Given the description of an element on the screen output the (x, y) to click on. 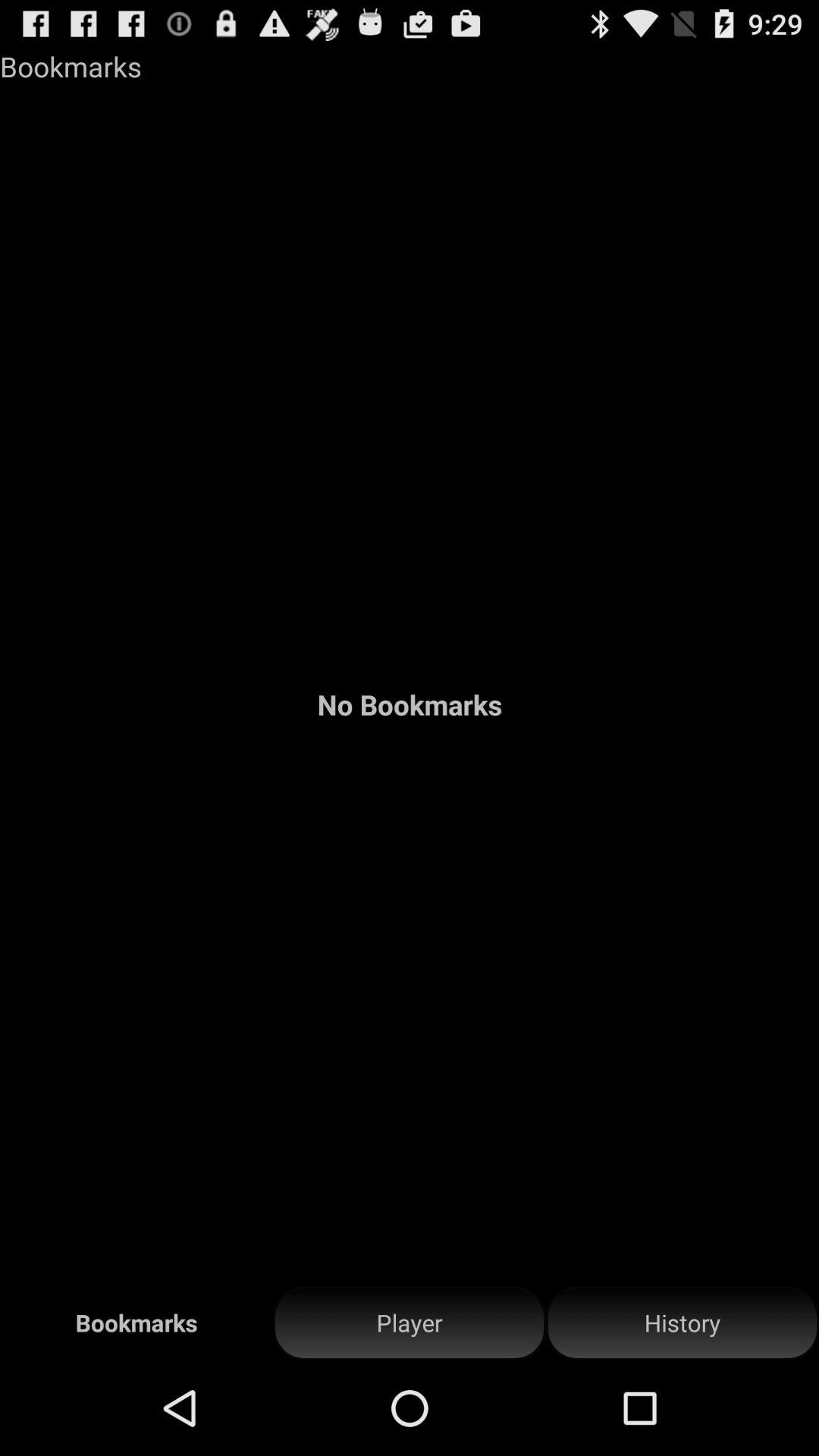
open item to the right of the player item (682, 1323)
